Given the description of an element on the screen output the (x, y) to click on. 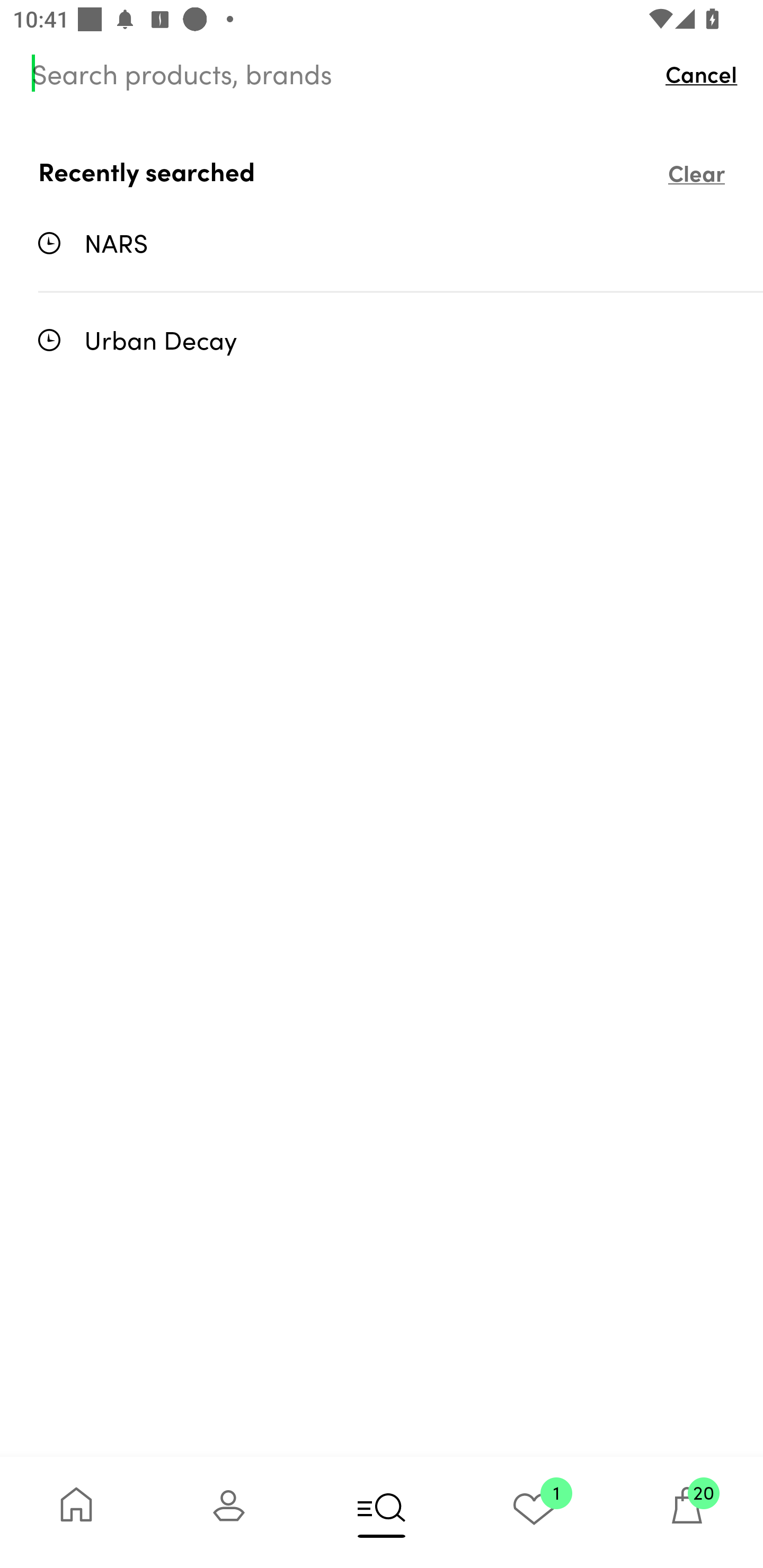
Cancel (706, 72)
Search products, brands (340, 72)
Clear (696, 171)
NARS (400, 243)
Urban Decay (400, 339)
1 (533, 1512)
20 (686, 1512)
